Given the description of an element on the screen output the (x, y) to click on. 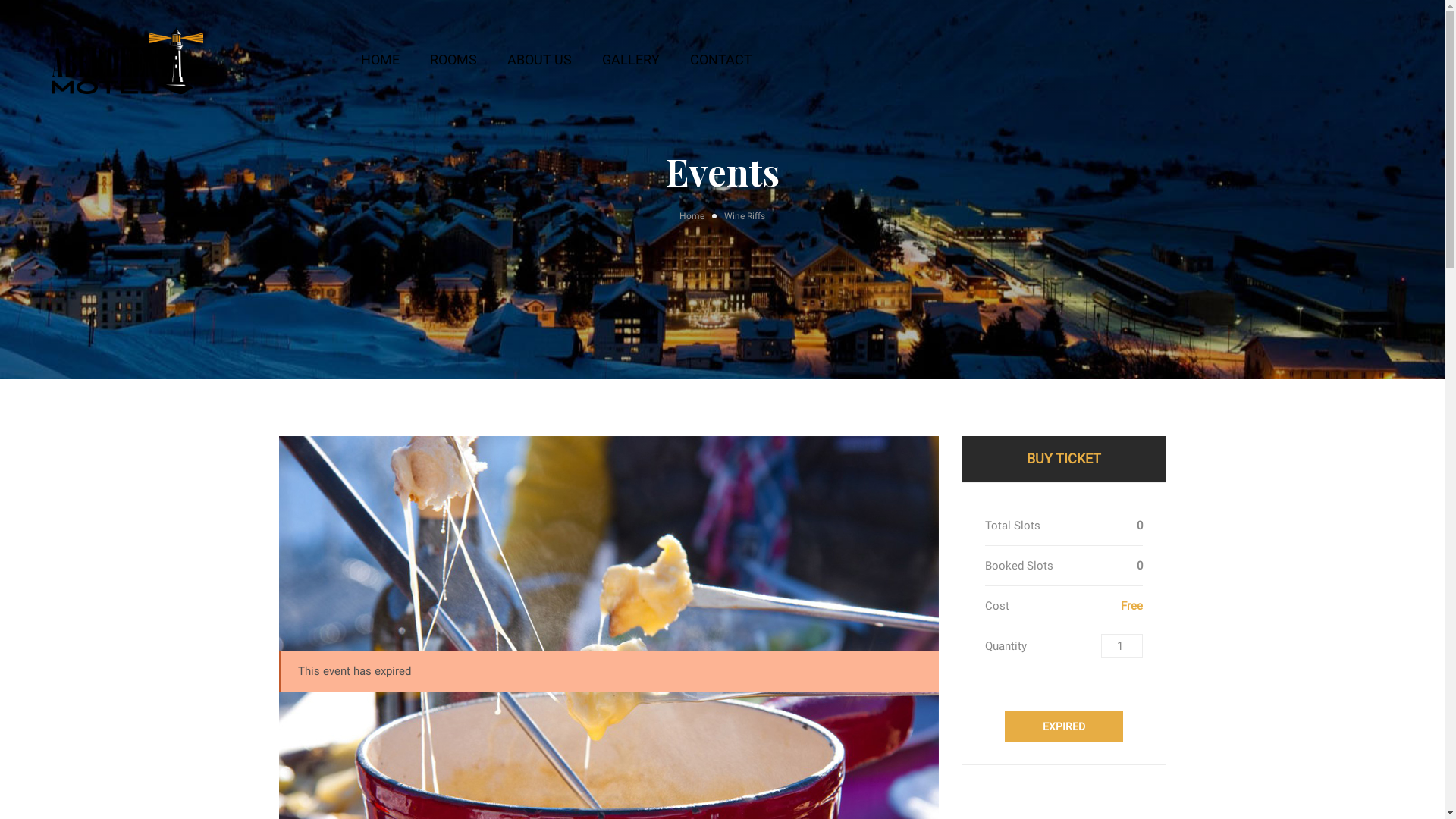
Aberdeen Motel - Aberdeen Motel website Element type: hover (127, 60)
GALLERY Element type: text (630, 59)
Home Element type: text (701, 216)
ROOMS Element type: text (453, 59)
CONTACT Element type: text (720, 59)
HOME Element type: text (379, 59)
EXPIRED Element type: text (1063, 726)
ABOUT US Element type: text (539, 59)
